Given the description of an element on the screen output the (x, y) to click on. 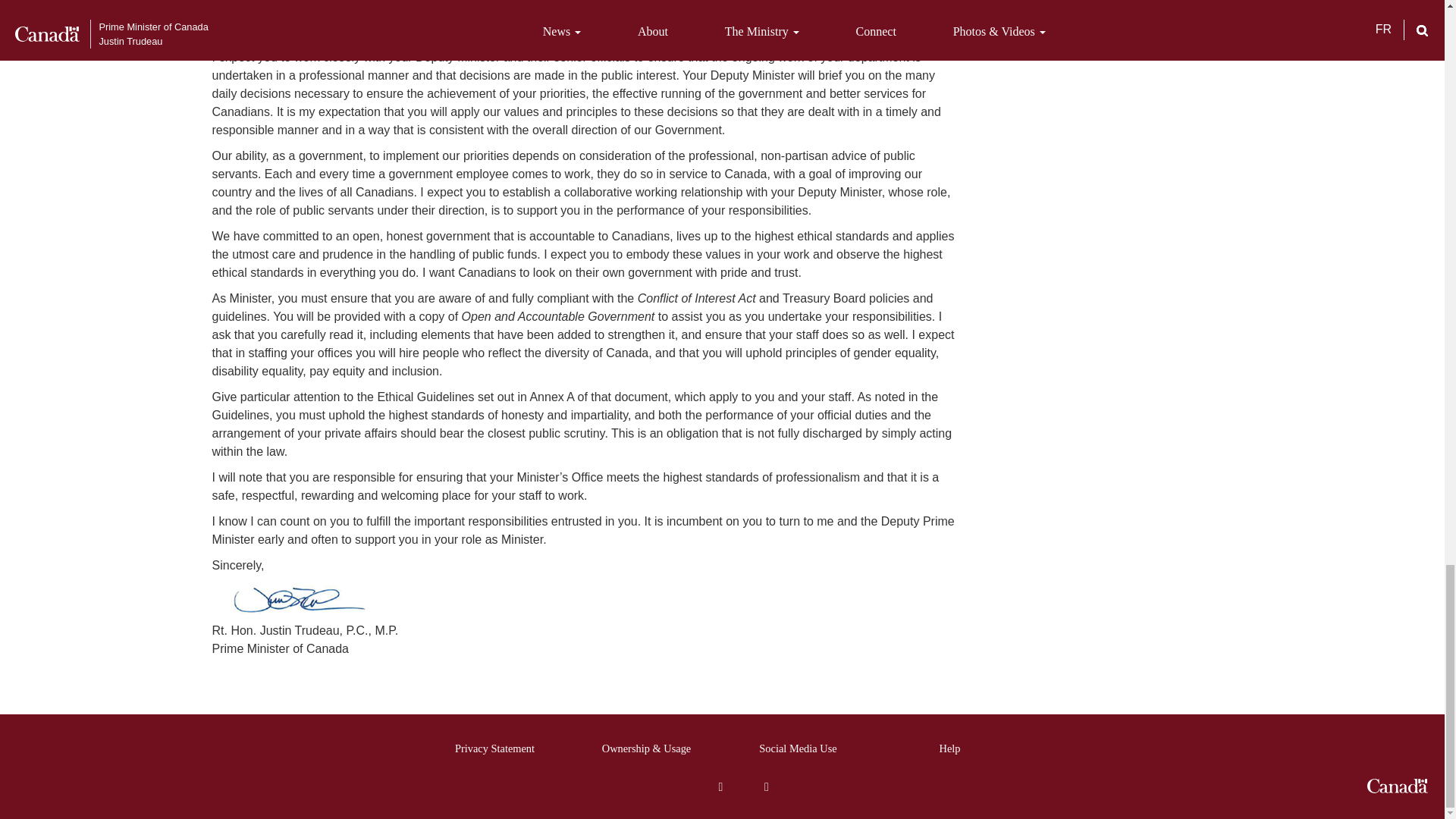
Twitter (676, 786)
YouTube (720, 787)
Subscribe (766, 787)
Government of Canada (1397, 785)
